Given the description of an element on the screen output the (x, y) to click on. 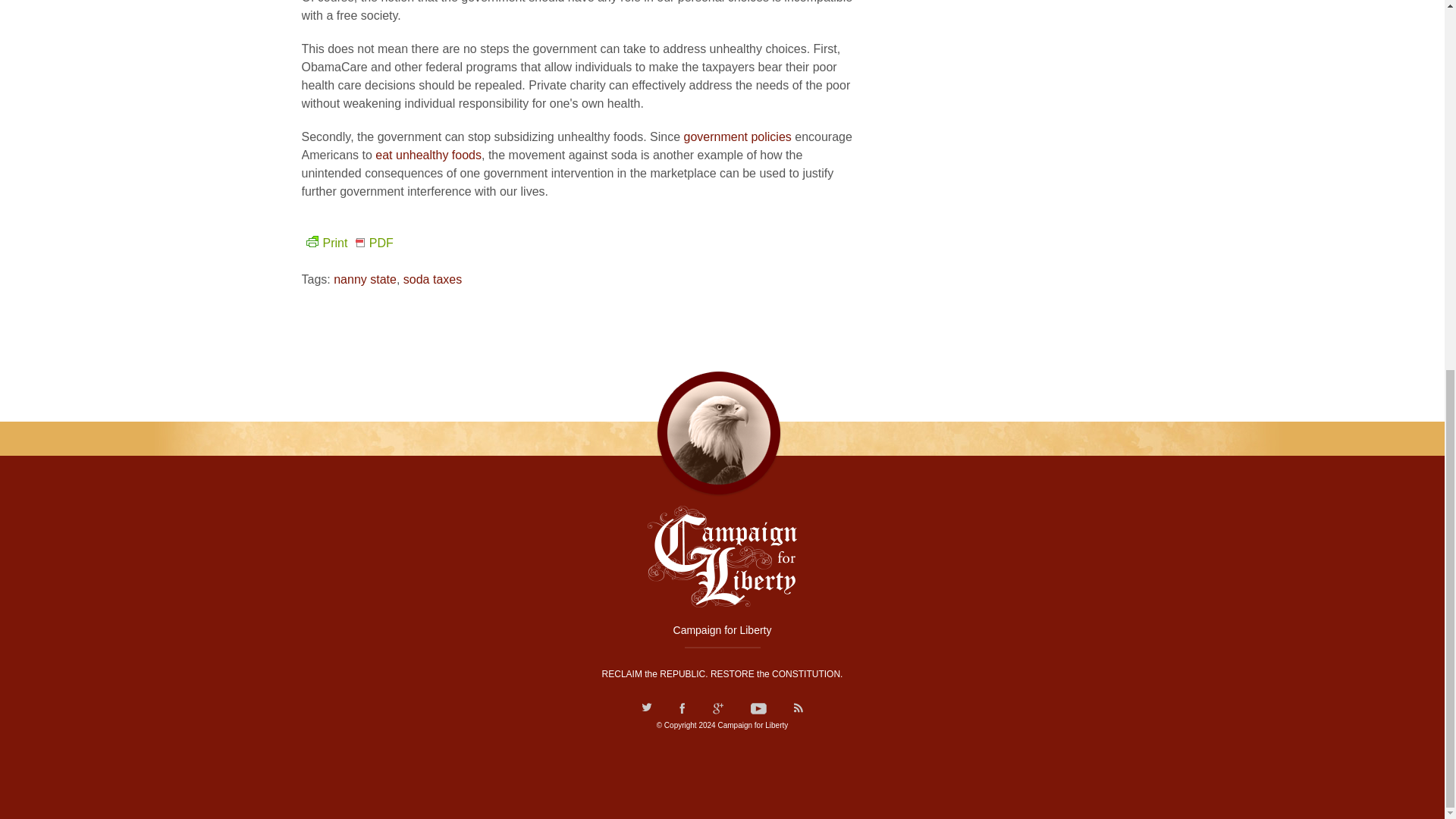
government policies (735, 136)
Printer Friendly and PDF (347, 242)
nanny state (364, 278)
Print PDF (347, 242)
eat unhealthy foods (428, 154)
soda taxes (432, 278)
